Given the description of an element on the screen output the (x, y) to click on. 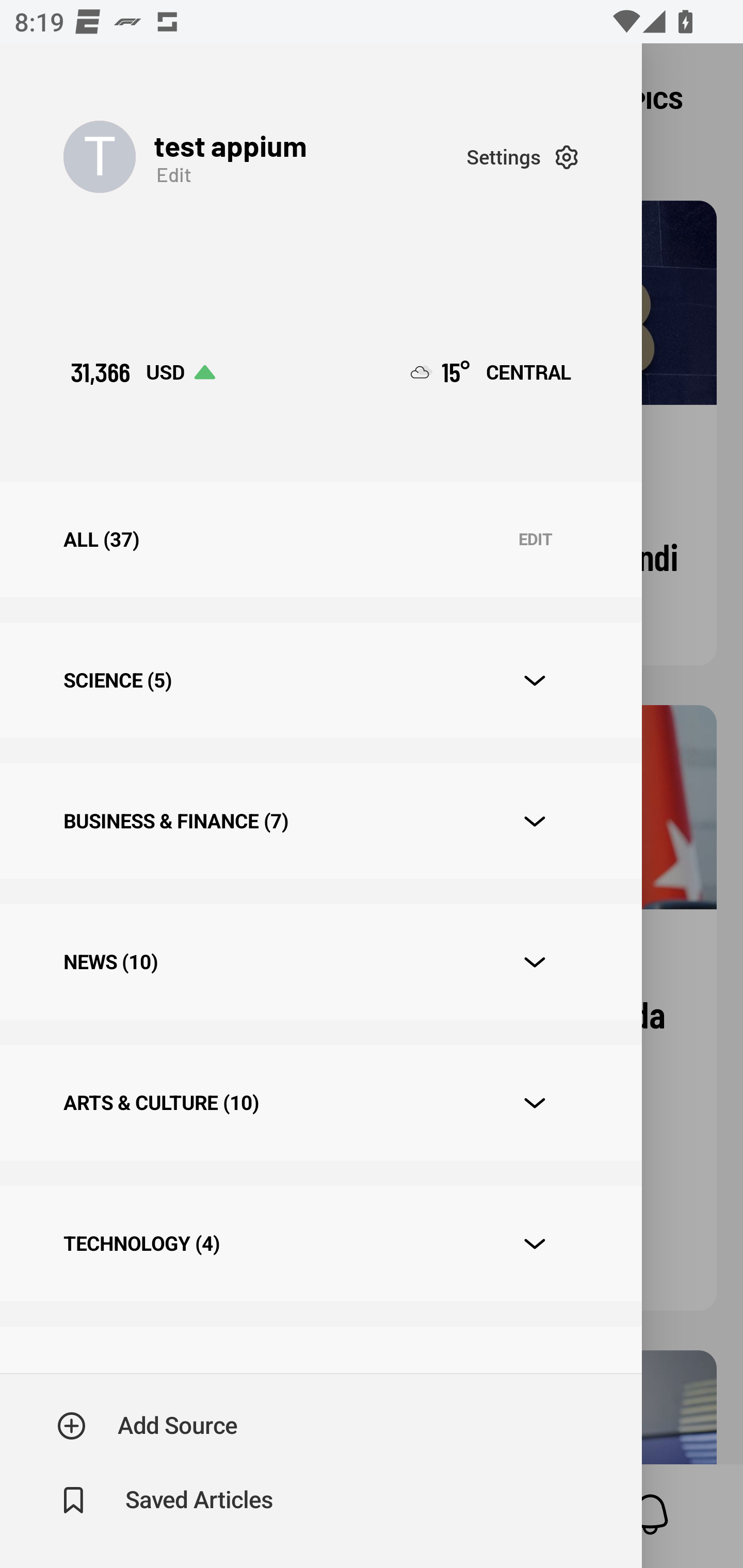
T test appium Edit (264, 156)
Settings Select News Style (522, 156)
31,366 USD Current State of the Currency (142, 372)
Current State of the Weather 15° CENTRAL (490, 372)
ALL  (37) EDIT (320, 539)
EDIT (534, 540)
SCIENCE  (5) Expand Button (320, 680)
Expand Button (534, 681)
BUSINESS & FINANCE  (7) Expand Button (320, 821)
Expand Button (534, 821)
NEWS  (10) Expand Button (320, 961)
Expand Button (534, 961)
ARTS & CULTURE  (10) Expand Button (320, 1102)
Expand Button (534, 1102)
TECHNOLOGY  (4) Expand Button (320, 1243)
Expand Button (534, 1244)
Open Content Store Add Source (147, 1425)
Open Saved News  Saved Articles (166, 1500)
